Given the description of an element on the screen output the (x, y) to click on. 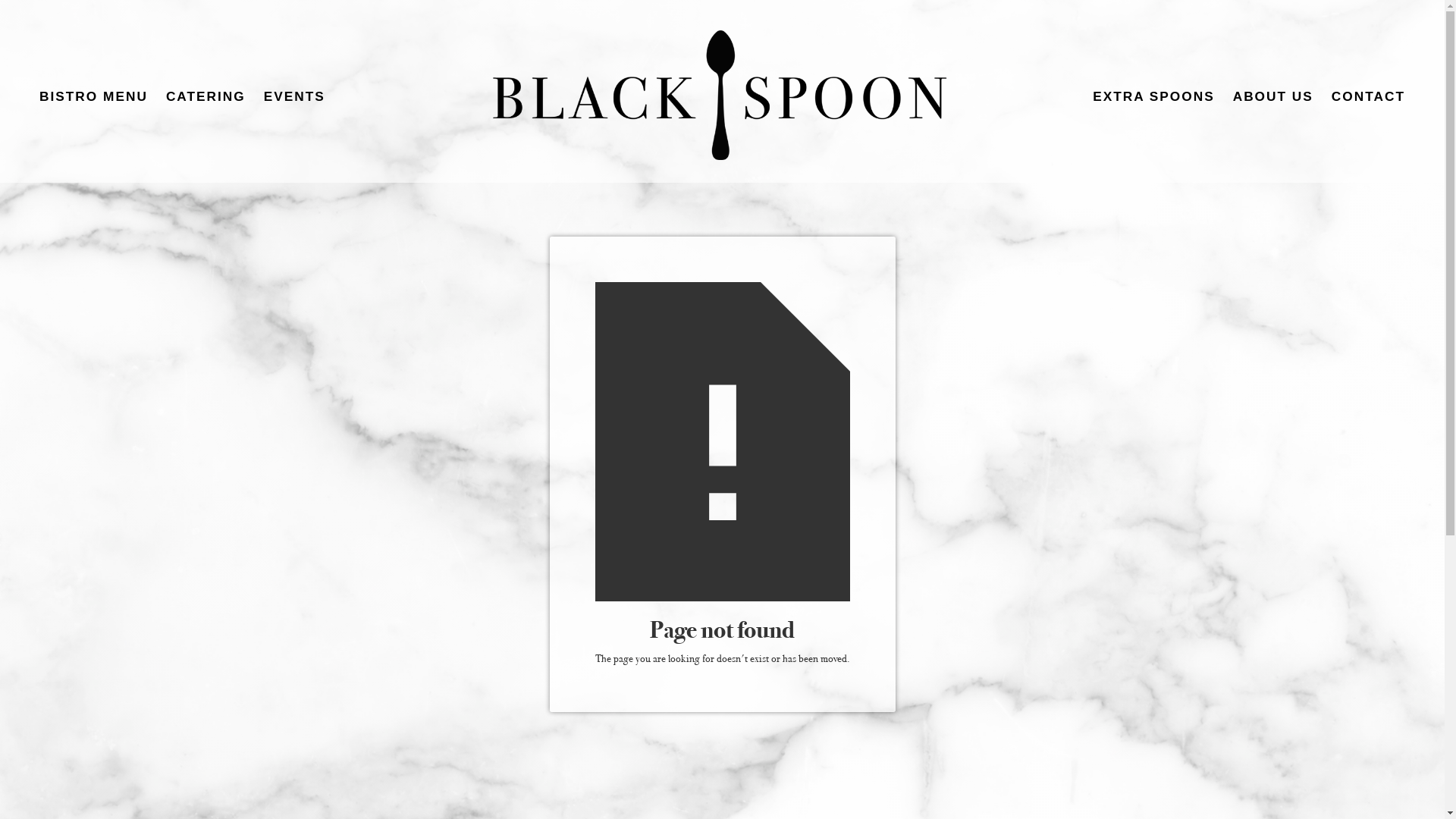
EVENTS Element type: text (294, 96)
CATERING Element type: text (205, 96)
CONTACT Element type: text (1368, 96)
ABOUT US Element type: text (1272, 96)
BISTRO MENU Element type: text (93, 96)
